Given the description of an element on the screen output the (x, y) to click on. 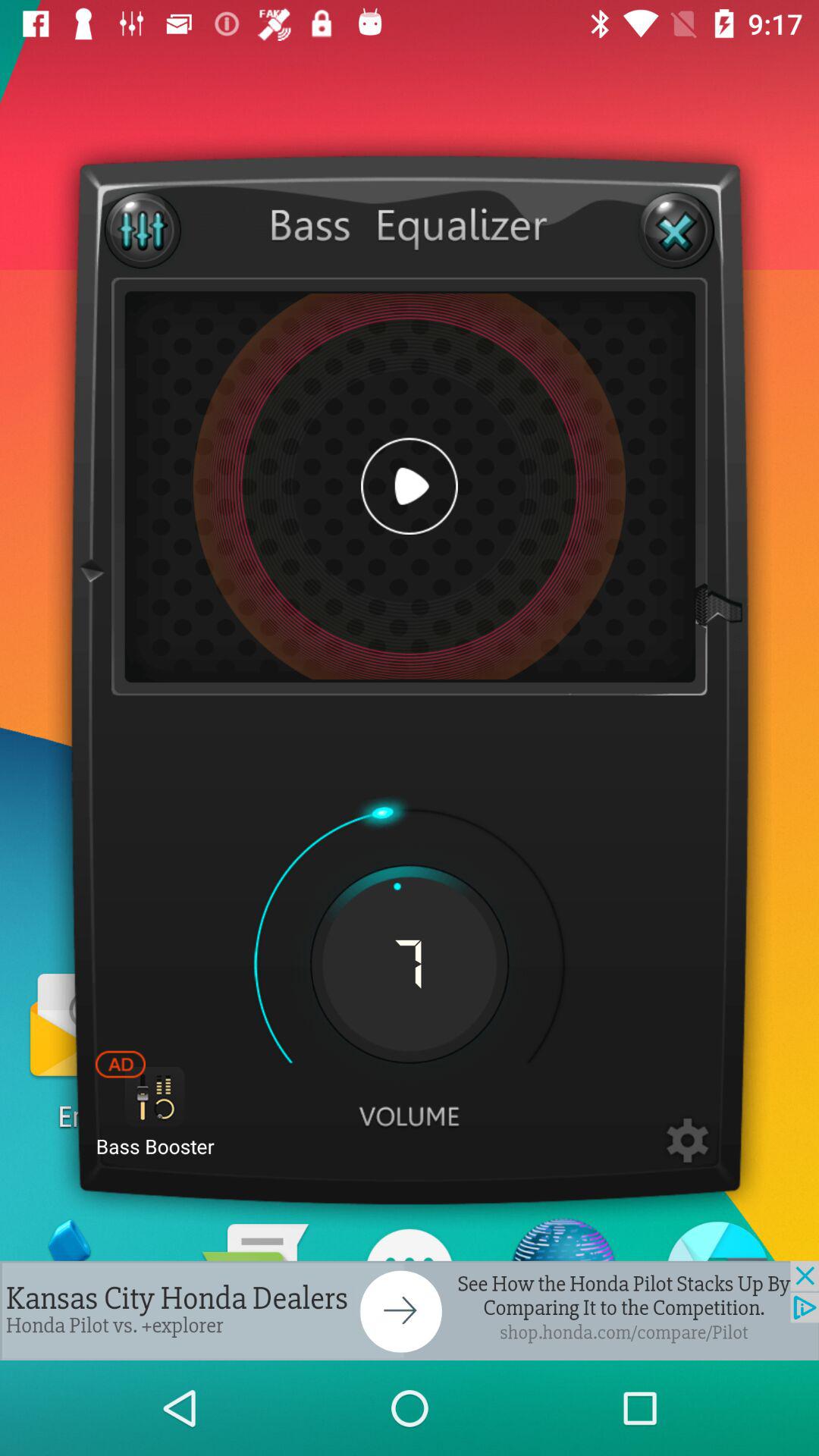
click to particular process (687, 1141)
